Given the description of an element on the screen output the (x, y) to click on. 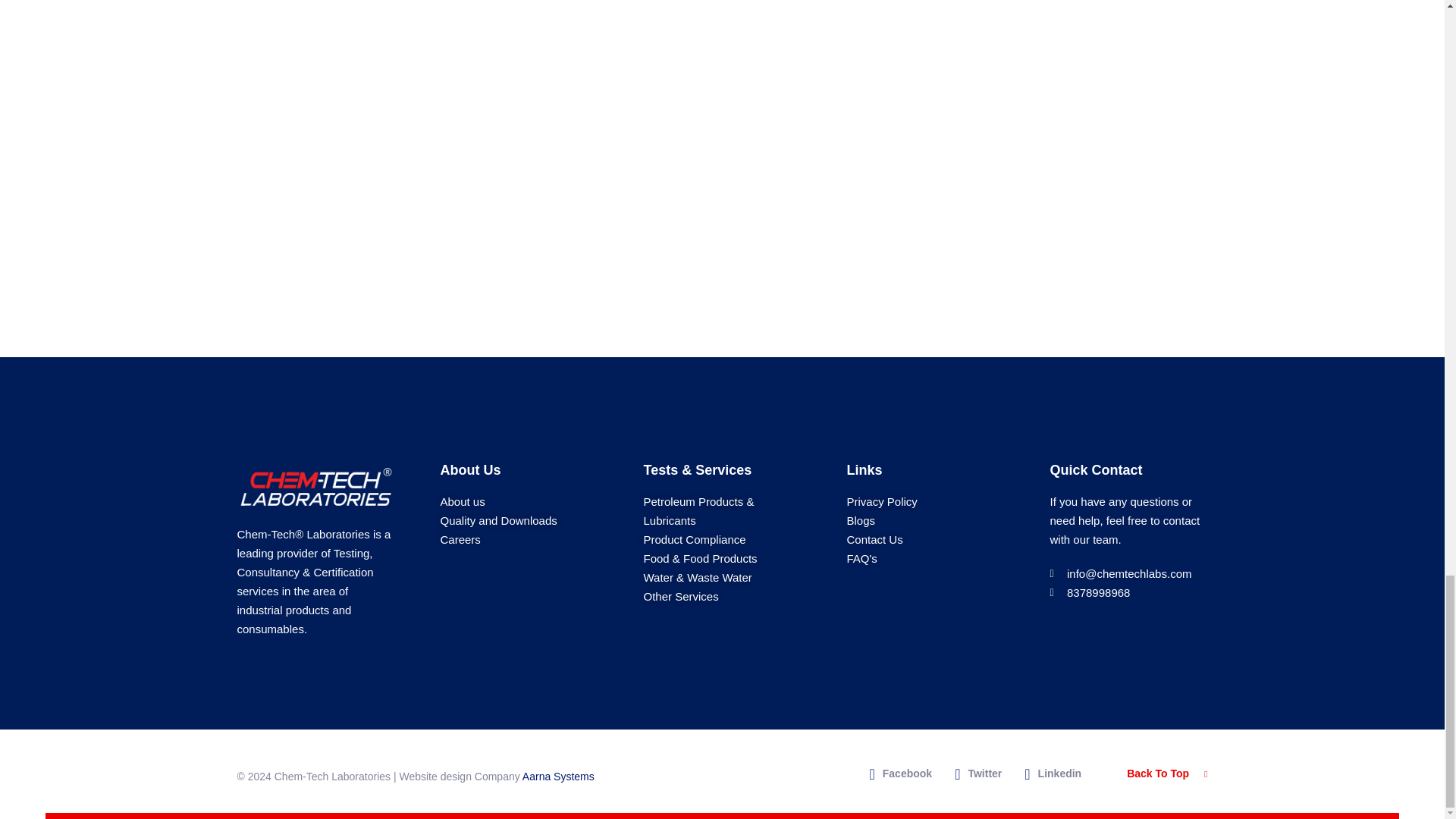
Back To Top (1166, 773)
